Given the description of an element on the screen output the (x, y) to click on. 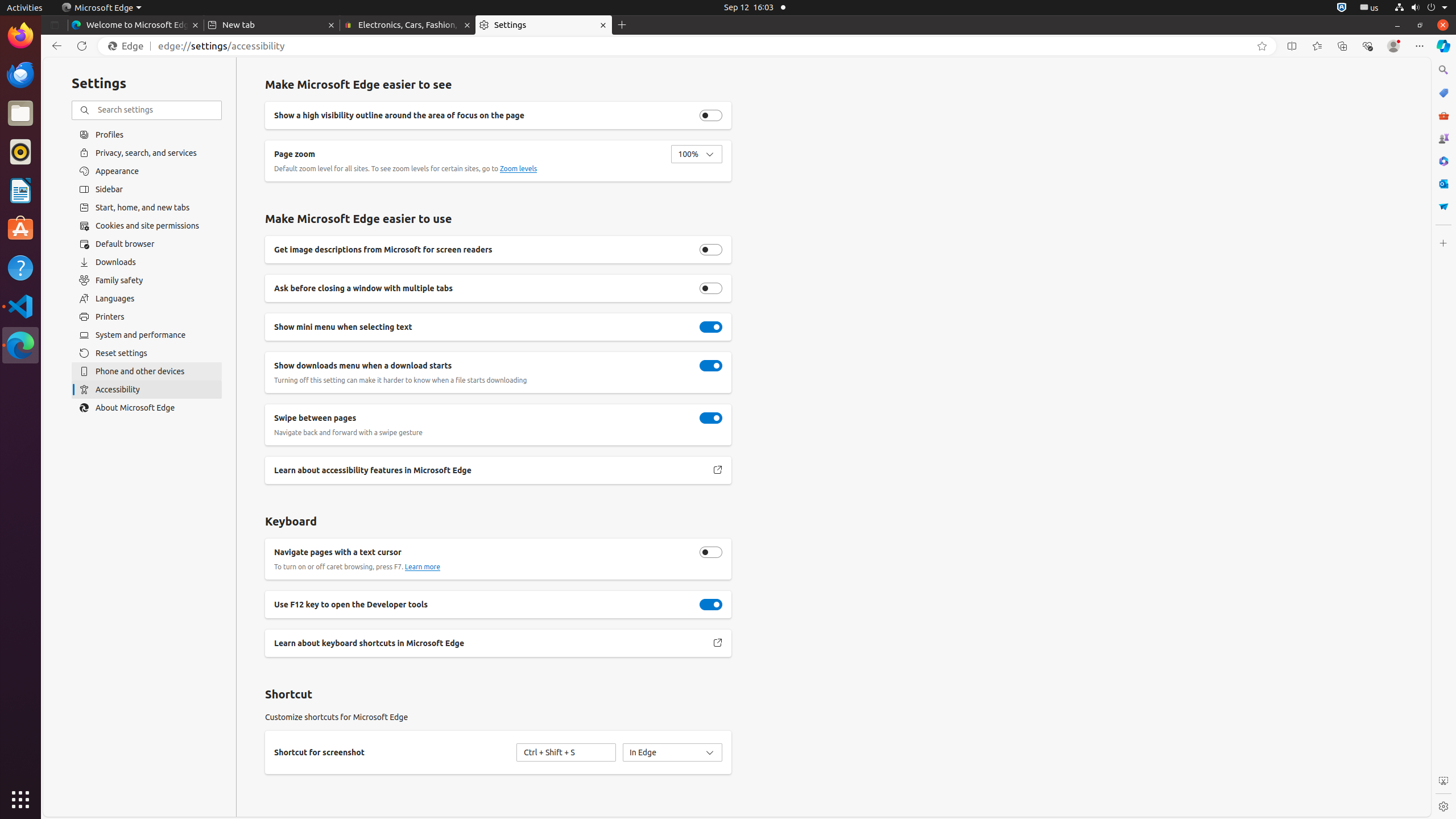
Printers Element type: tree-item (146, 316)
Thunderbird Mail Element type: push-button (20, 74)
Navigate back and forward with a swipe gesture Element type: check-box (710, 417)
Microsoft Edge Element type: push-button (20, 344)
Show mini menu when selecting text Element type: check-box (710, 326)
